Given the description of an element on the screen output the (x, y) to click on. 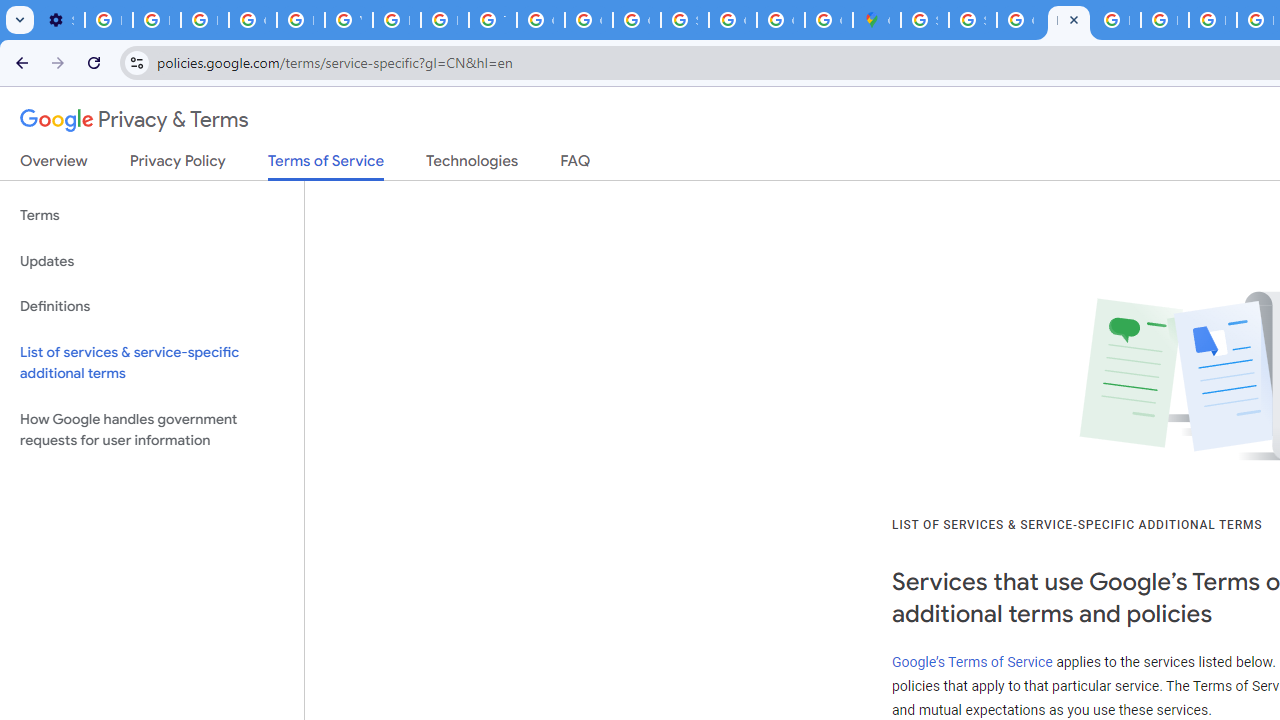
Sign in - Google Accounts (924, 20)
Privacy Help Center - Policies Help (1164, 20)
Learn how to find your photos - Google Photos Help (156, 20)
